Given the description of an element on the screen output the (x, y) to click on. 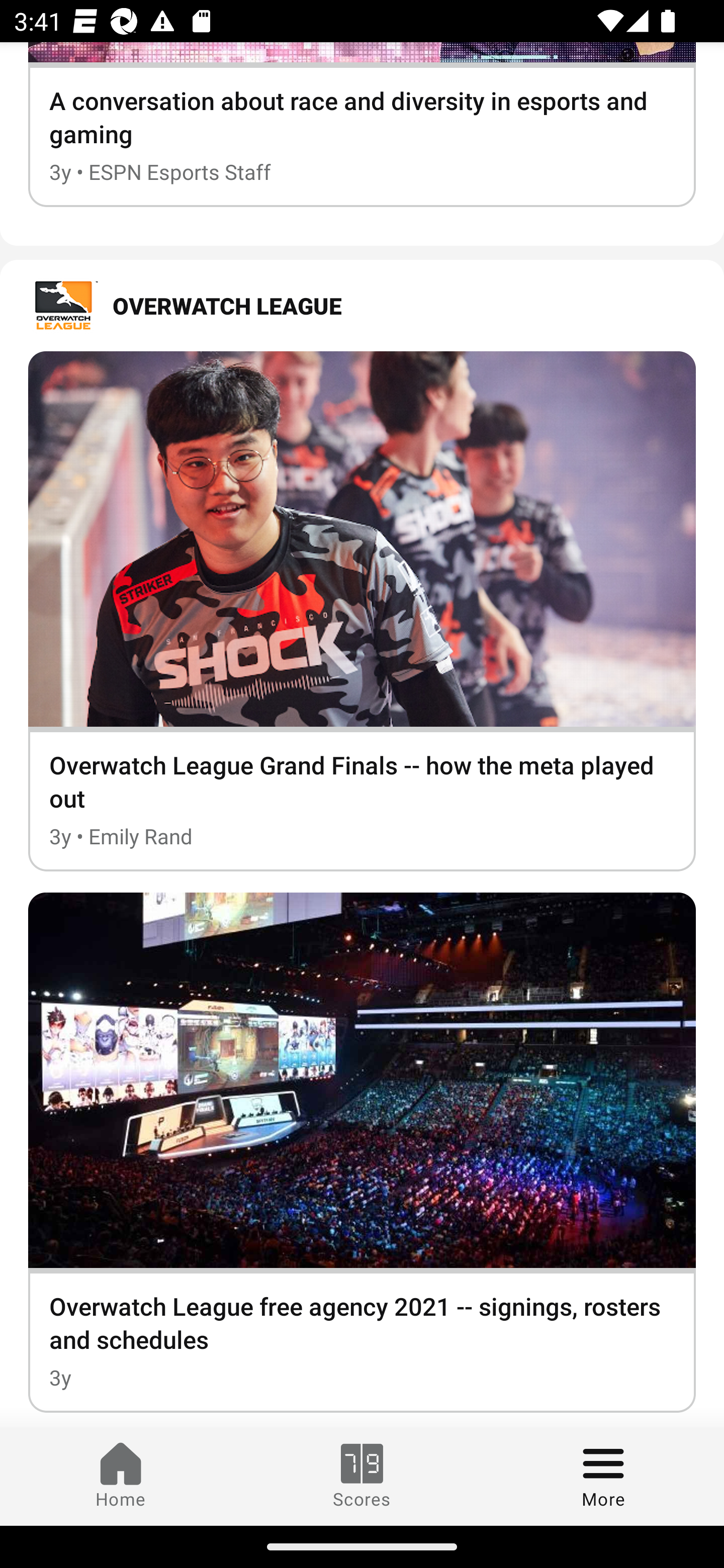
Home (120, 1475)
Scores (361, 1475)
